Given the description of an element on the screen output the (x, y) to click on. 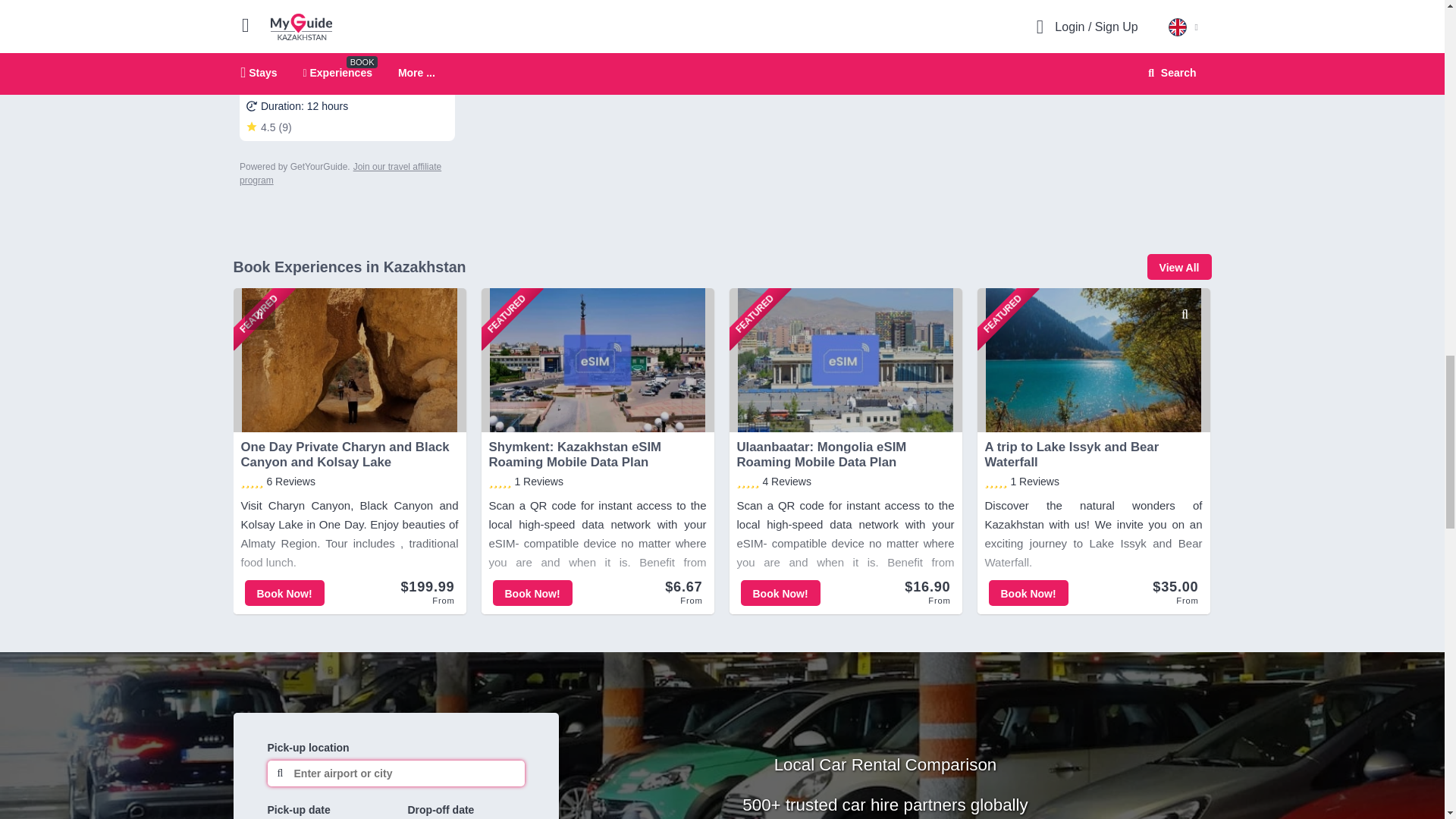
GetYourGuide Widget (346, 92)
